Given the description of an element on the screen output the (x, y) to click on. 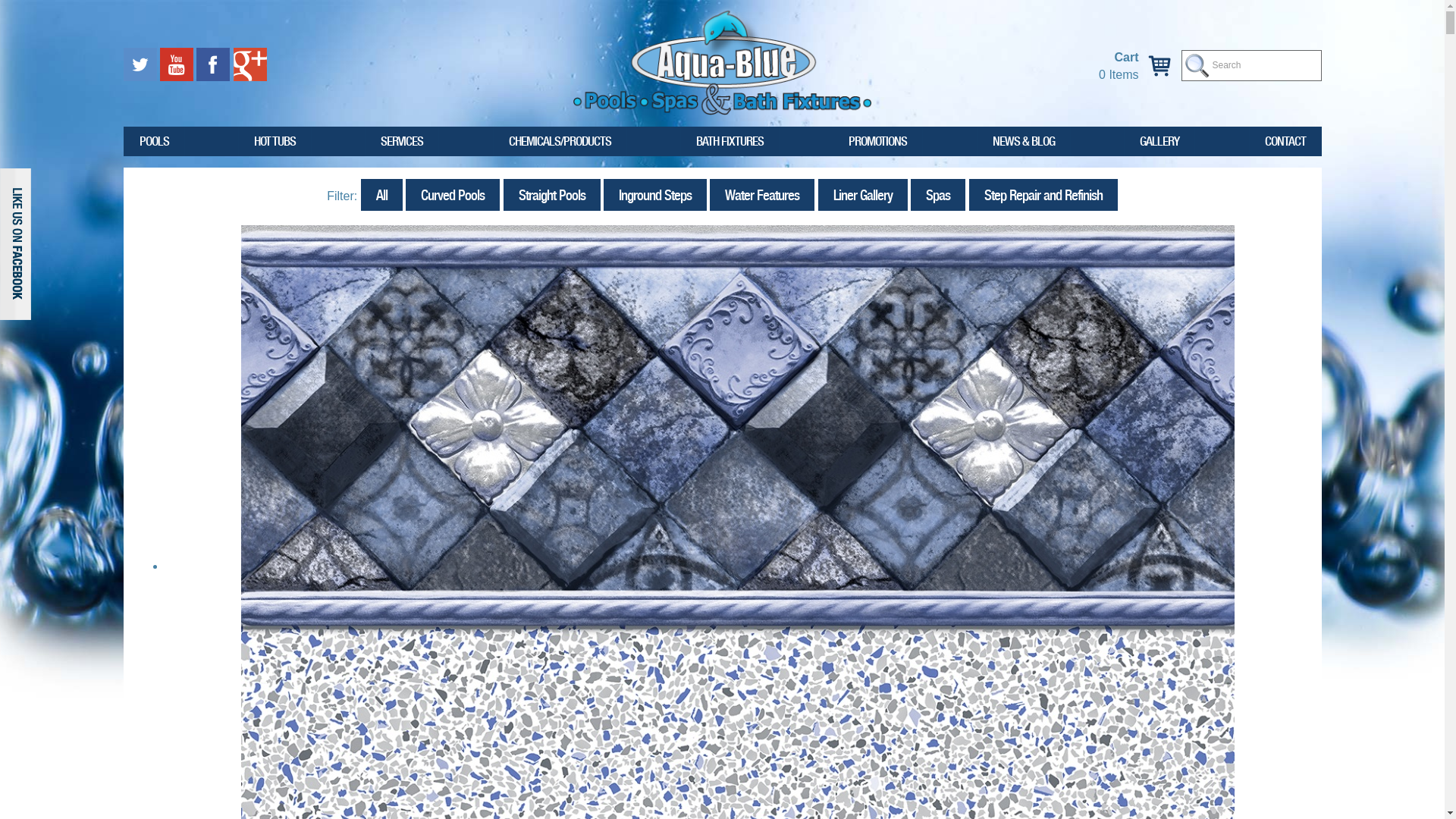
Curved Pools Element type: text (452, 194)
Straight Pools Element type: text (551, 194)
CONTACT Element type: text (1284, 141)
Inground Steps Element type: text (654, 194)
SERVICES Element type: text (401, 141)
Like us on facebook Element type: hover (214, 62)
BATH FIXTURES Element type: text (729, 141)
NEWS & BLOG Element type: text (1023, 141)
Liner Gallery Element type: text (862, 194)
Friend us on google plus Element type: hover (249, 62)
PROMOTIONS Element type: text (877, 141)
Spas Element type: text (937, 194)
Water Features Element type: text (761, 194)
All Element type: text (381, 194)
Follow us on Twitter Element type: hover (140, 62)
POOLS Element type: text (153, 141)
GALLERY Element type: text (1159, 141)
CHEMICALS/PRODUCTS Element type: text (559, 141)
Watch us on Youtube Element type: hover (178, 62)
Step Repair and Refinish Element type: text (1043, 194)
HOT TUBS Element type: text (274, 141)
